Given the description of an element on the screen output the (x, y) to click on. 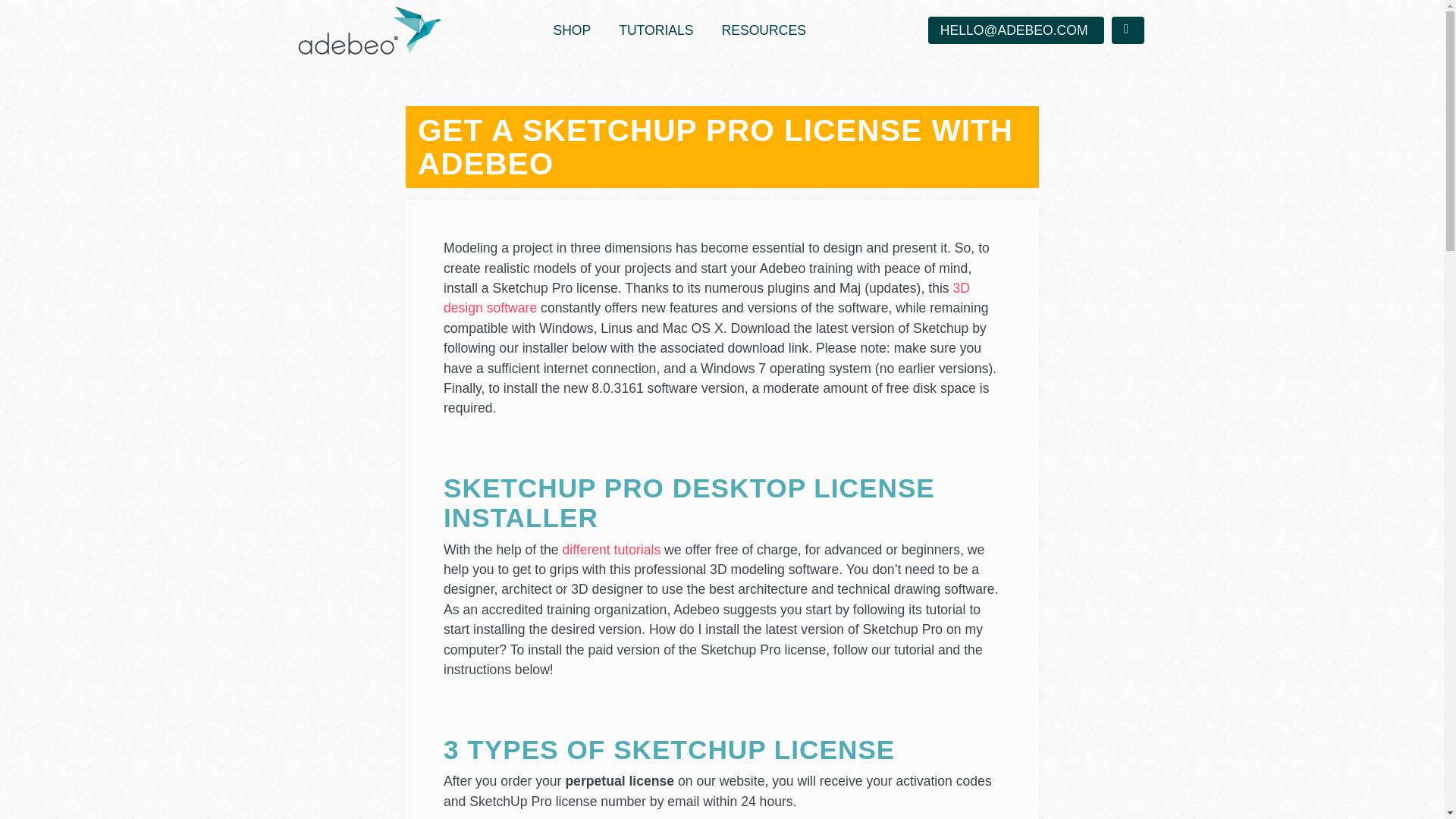
RESOURCES (762, 30)
TUTORIALS (655, 30)
different tutorials (610, 549)
3D design software (706, 297)
SHOP (572, 30)
